Given the description of an element on the screen output the (x, y) to click on. 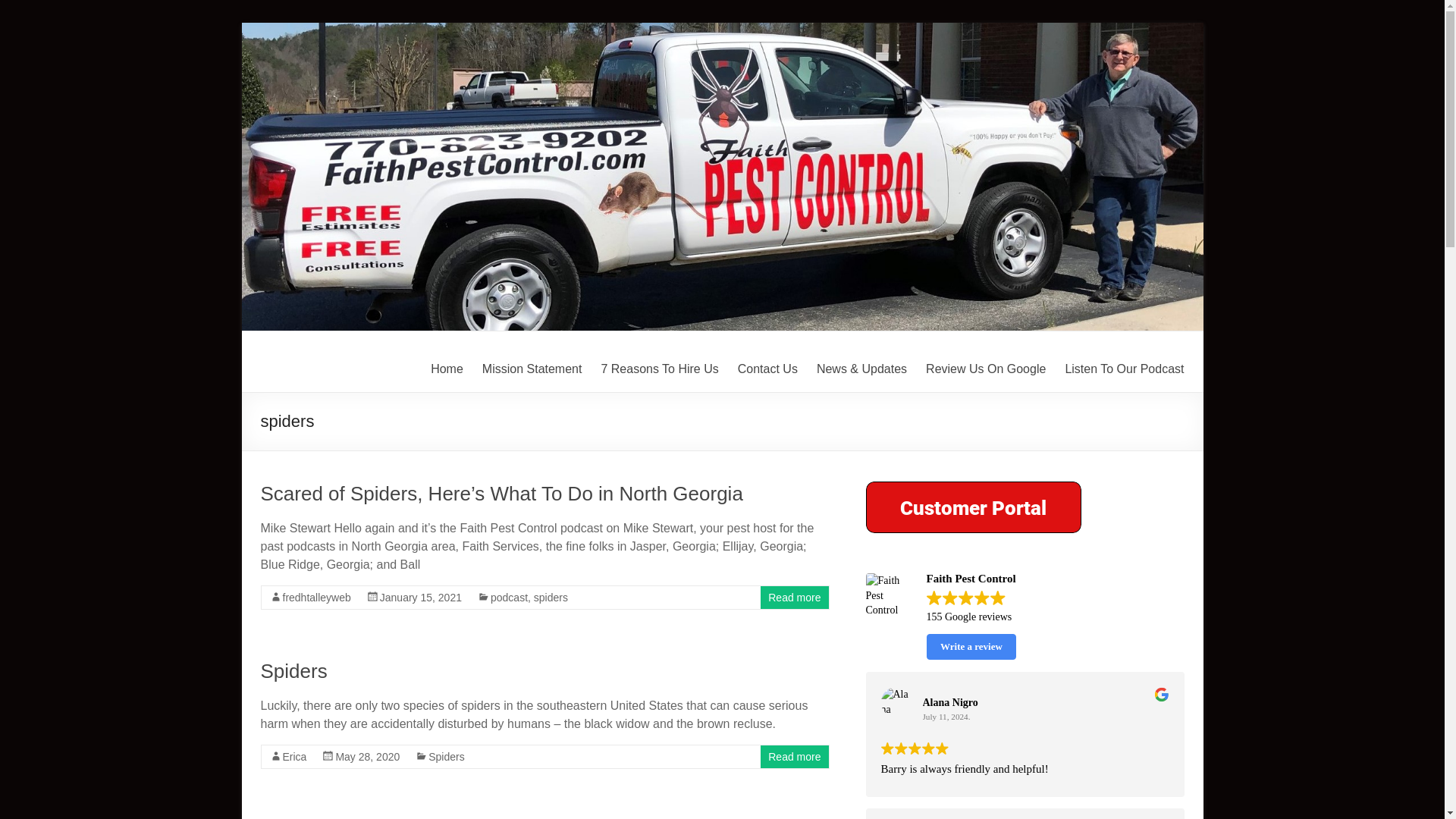
podcast (508, 597)
fredhtalleyweb (316, 597)
Contact Us (767, 368)
Read more (794, 756)
January 15, 2021 (420, 597)
spiders (550, 597)
Faith Pest Control (303, 391)
Faith Pest Control (303, 391)
Listen To Our Podcast (1123, 368)
